Given the description of an element on the screen output the (x, y) to click on. 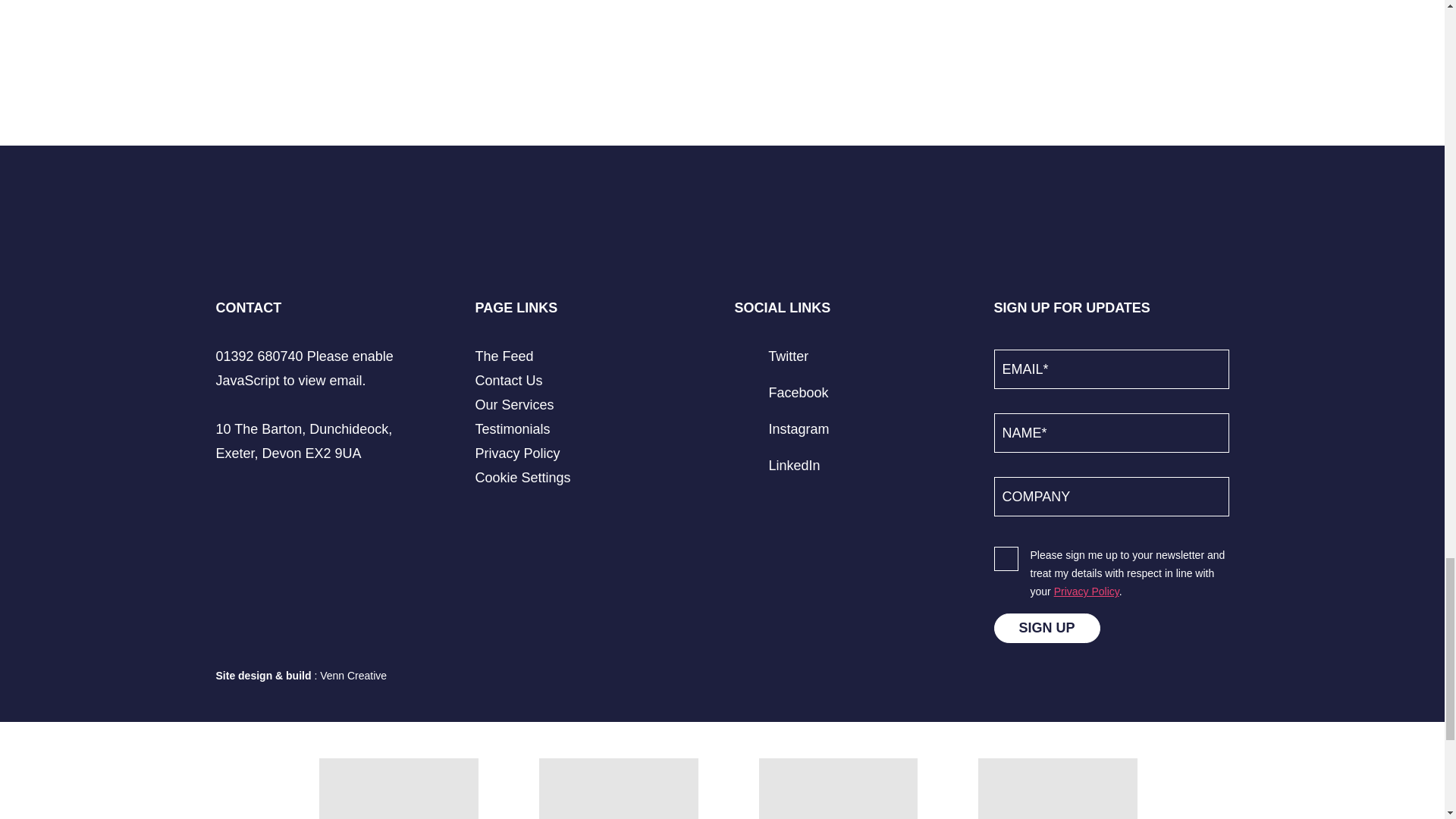
Contact Us (507, 380)
Privacy Policy (1086, 591)
Sign Up (1045, 627)
Venn Creative (353, 675)
The Feed (503, 355)
LinkedIn (776, 465)
Twitter (770, 355)
Our Services (513, 404)
Sign Up (1045, 627)
Cookie Settings (522, 477)
Privacy Policy (516, 453)
Please enable JavaScript to view email. (304, 368)
Instagram (780, 428)
Testimonials (512, 428)
01392 680740 (258, 355)
